Given the description of an element on the screen output the (x, y) to click on. 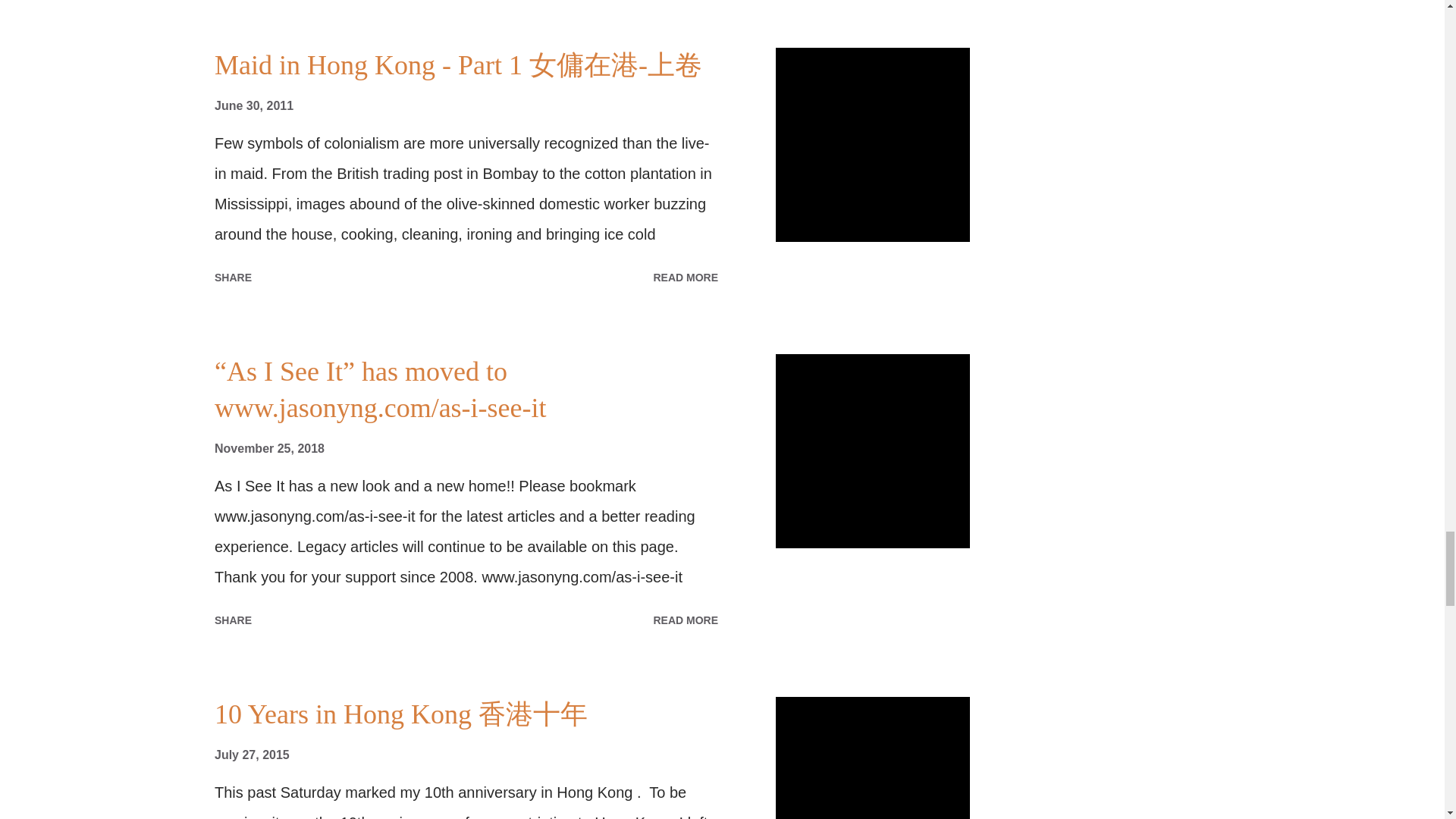
November 25, 2018 (269, 448)
June 30, 2011 (254, 105)
SHARE (232, 277)
SHARE (232, 620)
READ MORE (684, 620)
READ MORE (684, 277)
